Given the description of an element on the screen output the (x, y) to click on. 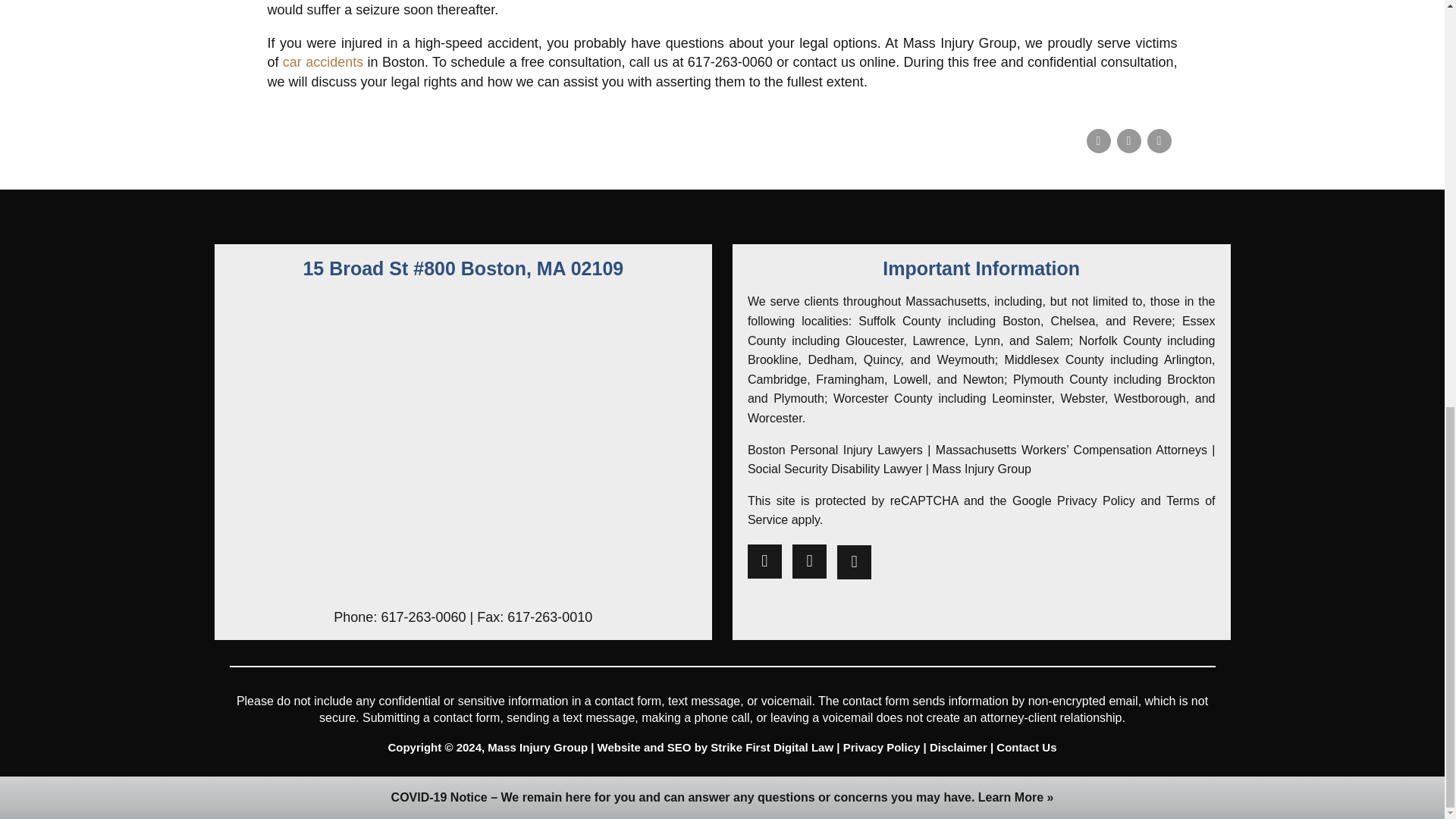
Share on Twitter (1128, 140)
Share on Linkedin (1158, 140)
Share on Facebook (1097, 140)
